Given the description of an element on the screen output the (x, y) to click on. 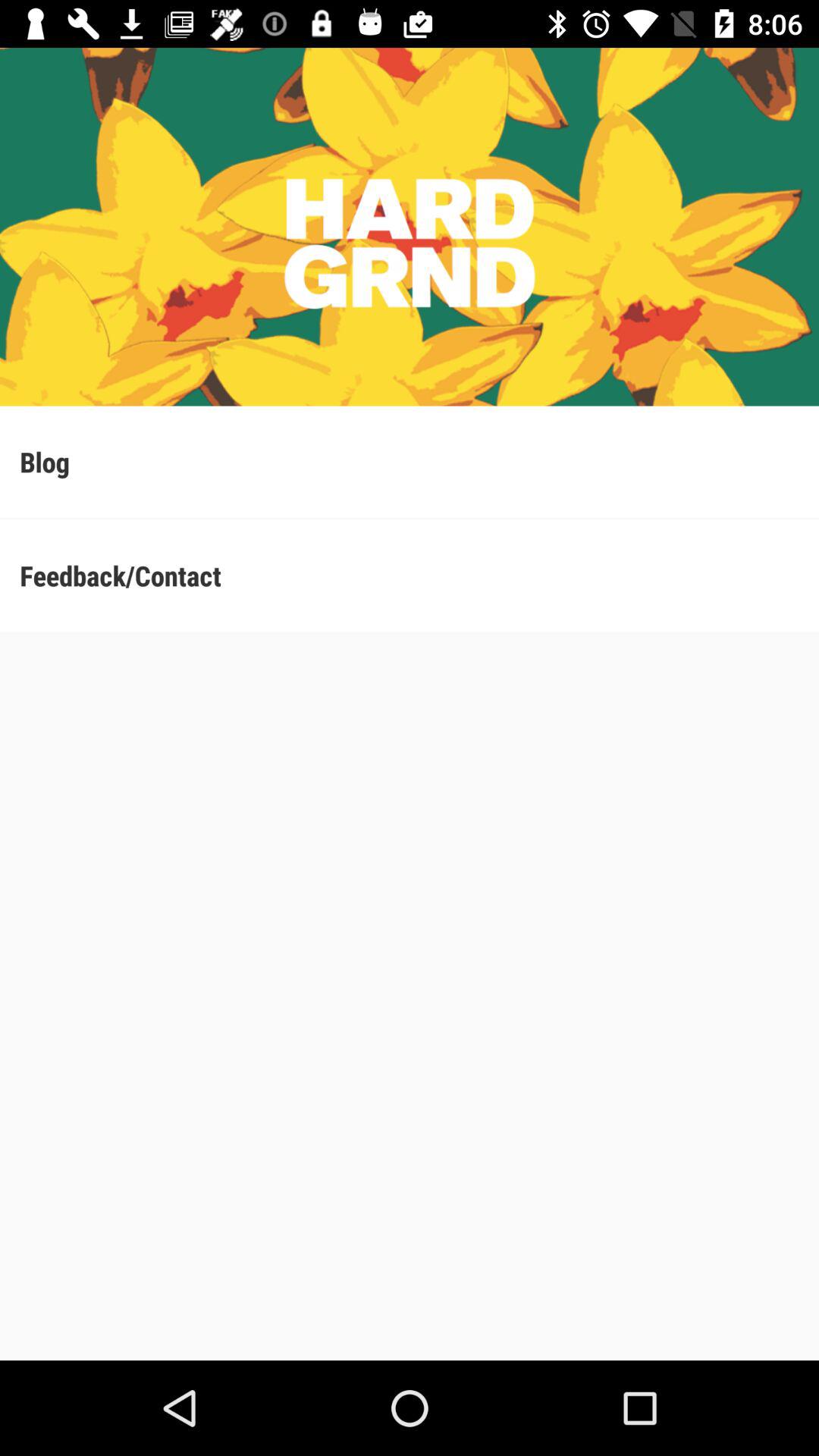
scroll until blog item (409, 461)
